Given the description of an element on the screen output the (x, y) to click on. 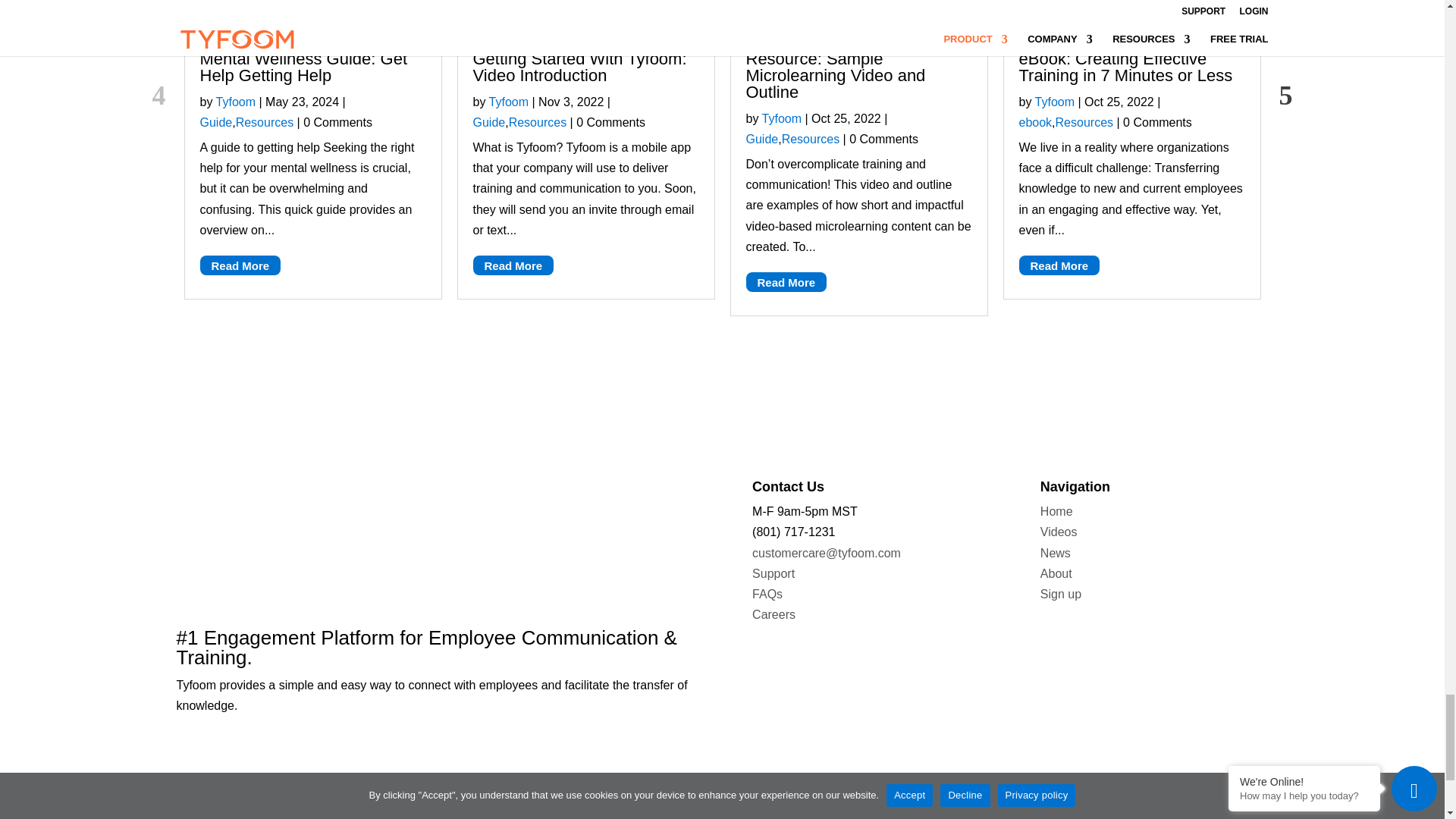
Posts by Tyfoom (508, 101)
Posts by Tyfoom (1054, 101)
Posts by Tyfoom (781, 118)
Posts by Tyfoom (235, 101)
